Given the description of an element on the screen output the (x, y) to click on. 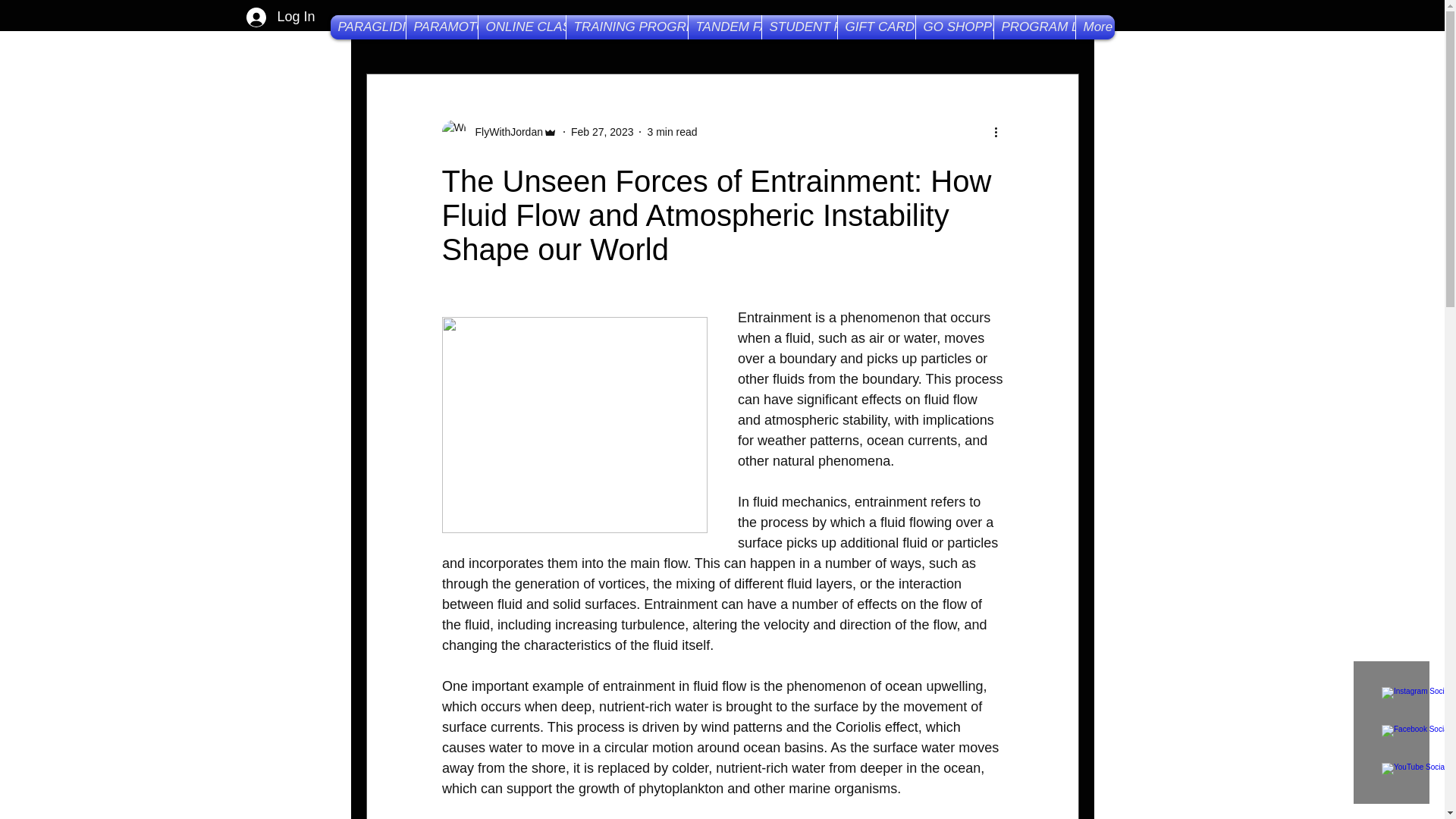
PARAGLIDING (368, 27)
Learn About Paragliding (710, 27)
GO SHOPPING! (953, 27)
FlyWithJordan (498, 131)
STUDENT FAQ (798, 27)
Paramotor (841, 27)
Feb 27, 2023 (601, 132)
All Posts (390, 27)
TRAINING PROGRESSION (626, 27)
TANDEM FAQ (724, 27)
Log In (279, 17)
PROGRAM LIST (1033, 27)
FlyWithJordan (503, 132)
GIFT CARDS!!! (875, 27)
How to Get Into Paragliding (529, 27)
